Given the description of an element on the screen output the (x, y) to click on. 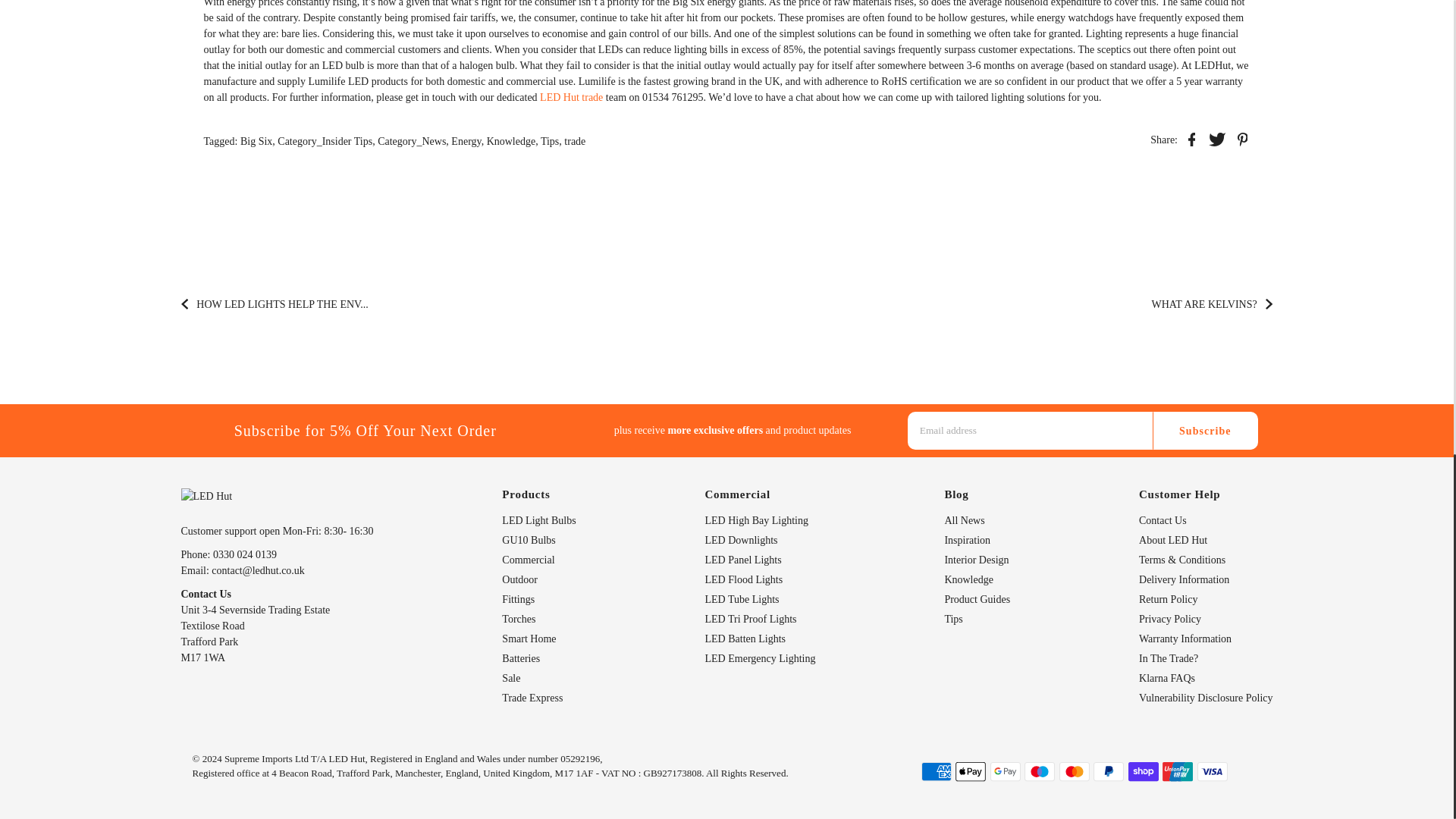
LED Hut Trade (571, 97)
American Express (935, 771)
Maestro (1039, 771)
Share on Facebook (1190, 138)
Share on Pinterest (1242, 138)
Apple Pay (970, 771)
Share on Twitter (1216, 138)
Google Pay (1005, 771)
